Given the description of an element on the screen output the (x, y) to click on. 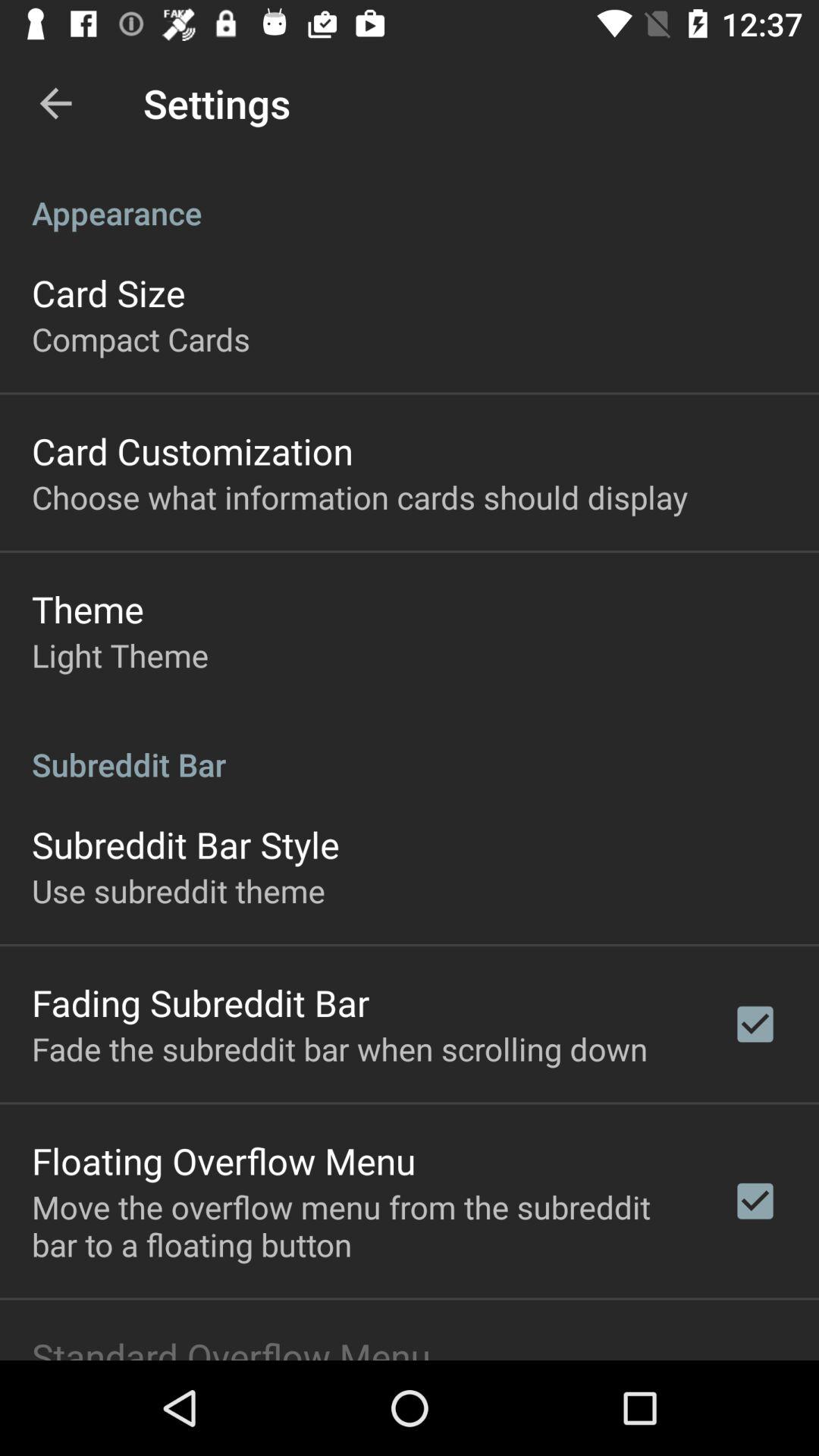
press the icon below the subreddit bar style (178, 890)
